Given the description of an element on the screen output the (x, y) to click on. 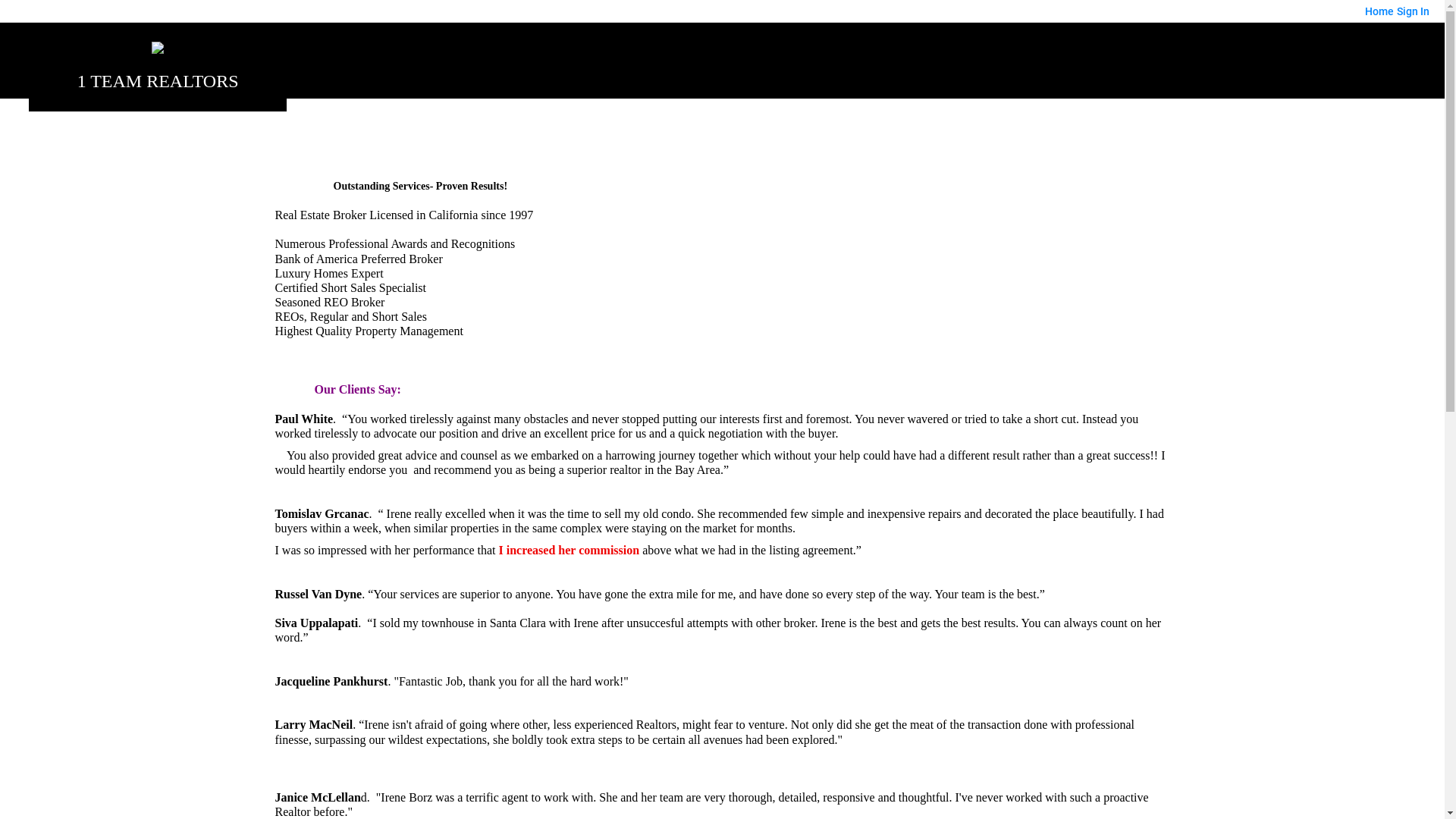
Sign In Element type: text (1412, 11)
Home Element type: text (1379, 11)
Home Element type: hover (157, 47)
